Given the description of an element on the screen output the (x, y) to click on. 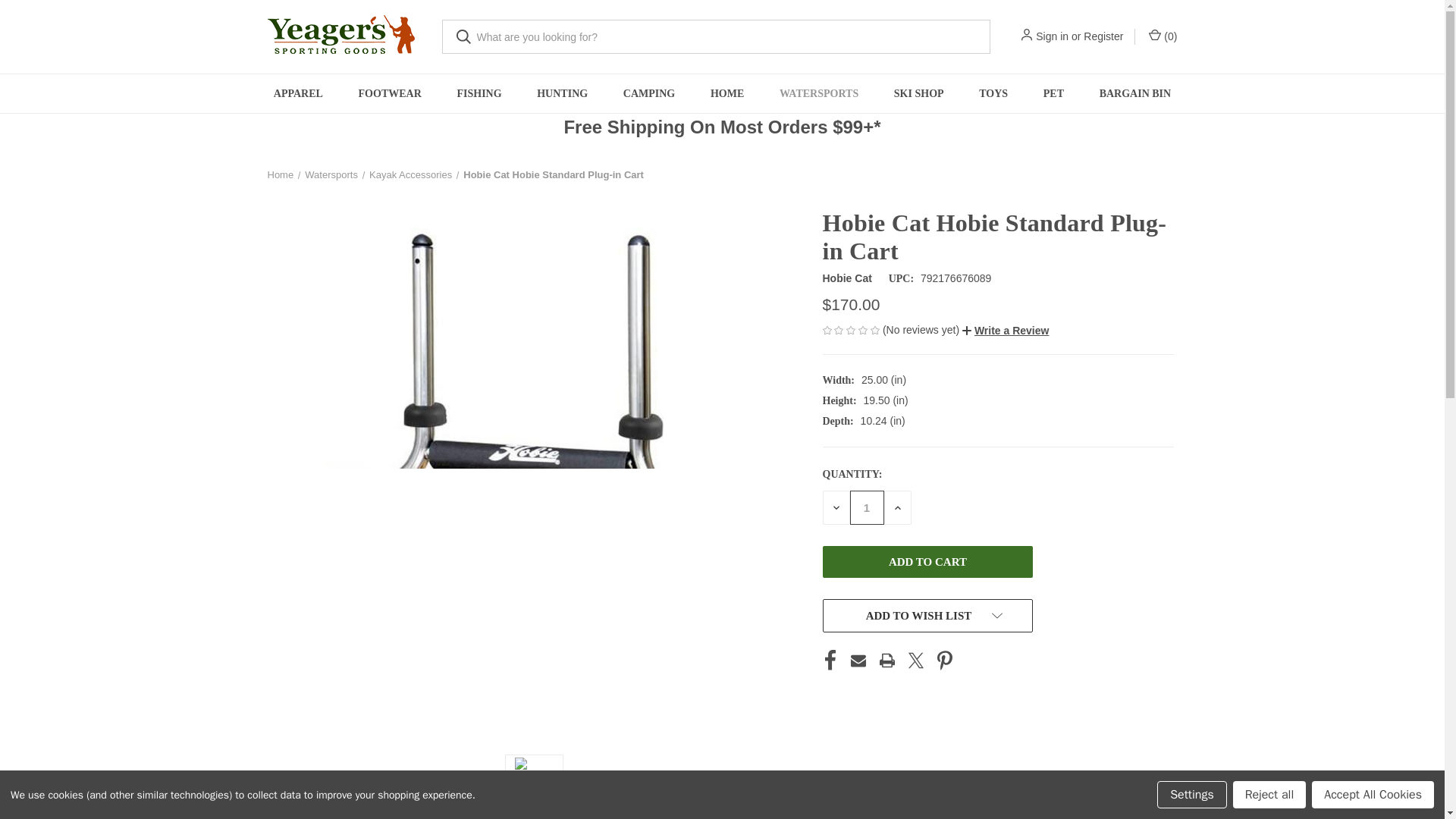
Register (1102, 36)
APPAREL (298, 93)
1 (865, 507)
Yeager's Sporting Goods (342, 36)
Sign in (1051, 36)
Add to Cart (927, 562)
FOOTWEAR (389, 93)
